Given the description of an element on the screen output the (x, y) to click on. 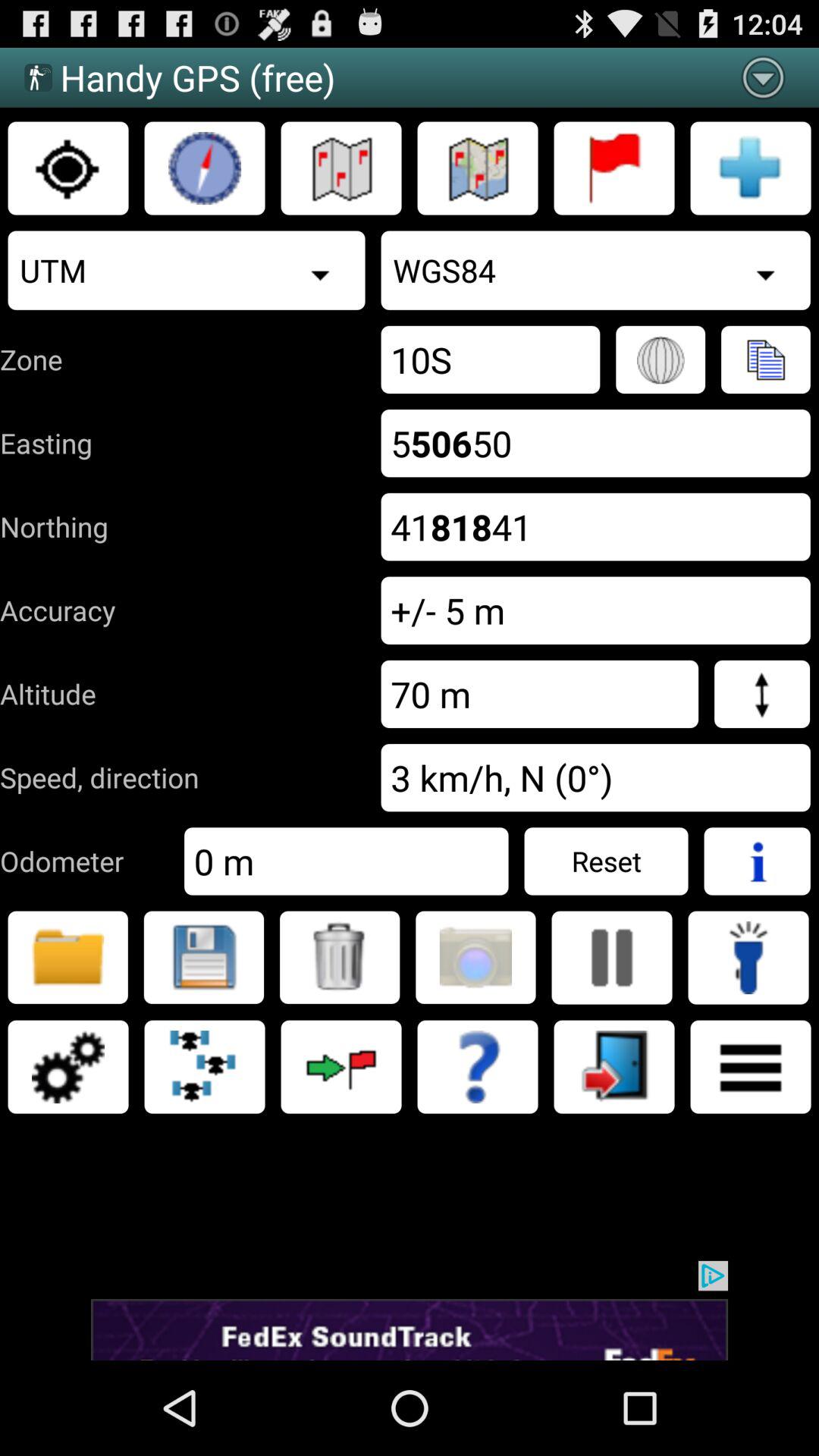
move to trash (339, 957)
